Given the description of an element on the screen output the (x, y) to click on. 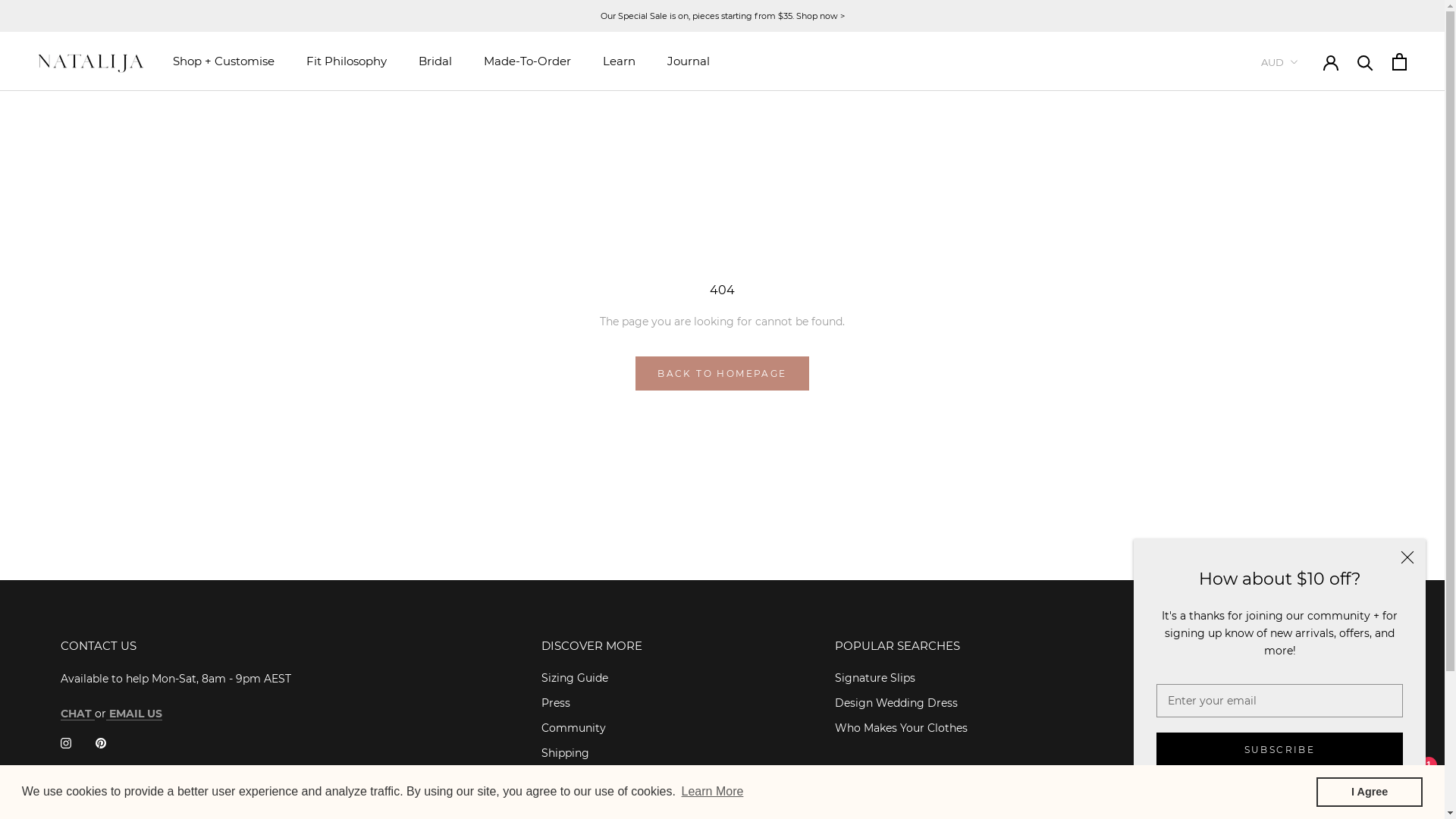
BACK TO HOMEPAGE Element type: text (721, 373)
CHAT Element type: text (77, 713)
Shopify online store chat Element type: hover (1388, 780)
Signature Slips Element type: text (900, 678)
Design Wedding Dress Element type: text (900, 703)
Returns Element type: text (591, 778)
Our Special Sale is on, pieces starting from $35. Shop now > Element type: text (722, 15)
Shipping Element type: text (591, 753)
Fit Philosophy
Fit Philosophy Element type: text (346, 60)
Press Element type: text (591, 703)
Who Makes Your Clothes Element type: text (900, 728)
Bridal
Bridal Element type: text (434, 60)
Made-To-Order
Made-To-Order Element type: text (527, 60)
Community Element type: text (591, 728)
EMAIL US Element type: text (134, 713)
Sizing Guide Element type: text (591, 678)
Learn Element type: text (618, 60)
Shop + Customise Element type: text (223, 60)
Journal
Journal Element type: text (688, 60)
SUBSCRIBE Element type: text (1279, 749)
I Agree Element type: text (1369, 791)
Learn More Element type: text (711, 791)
